Given the description of an element on the screen output the (x, y) to click on. 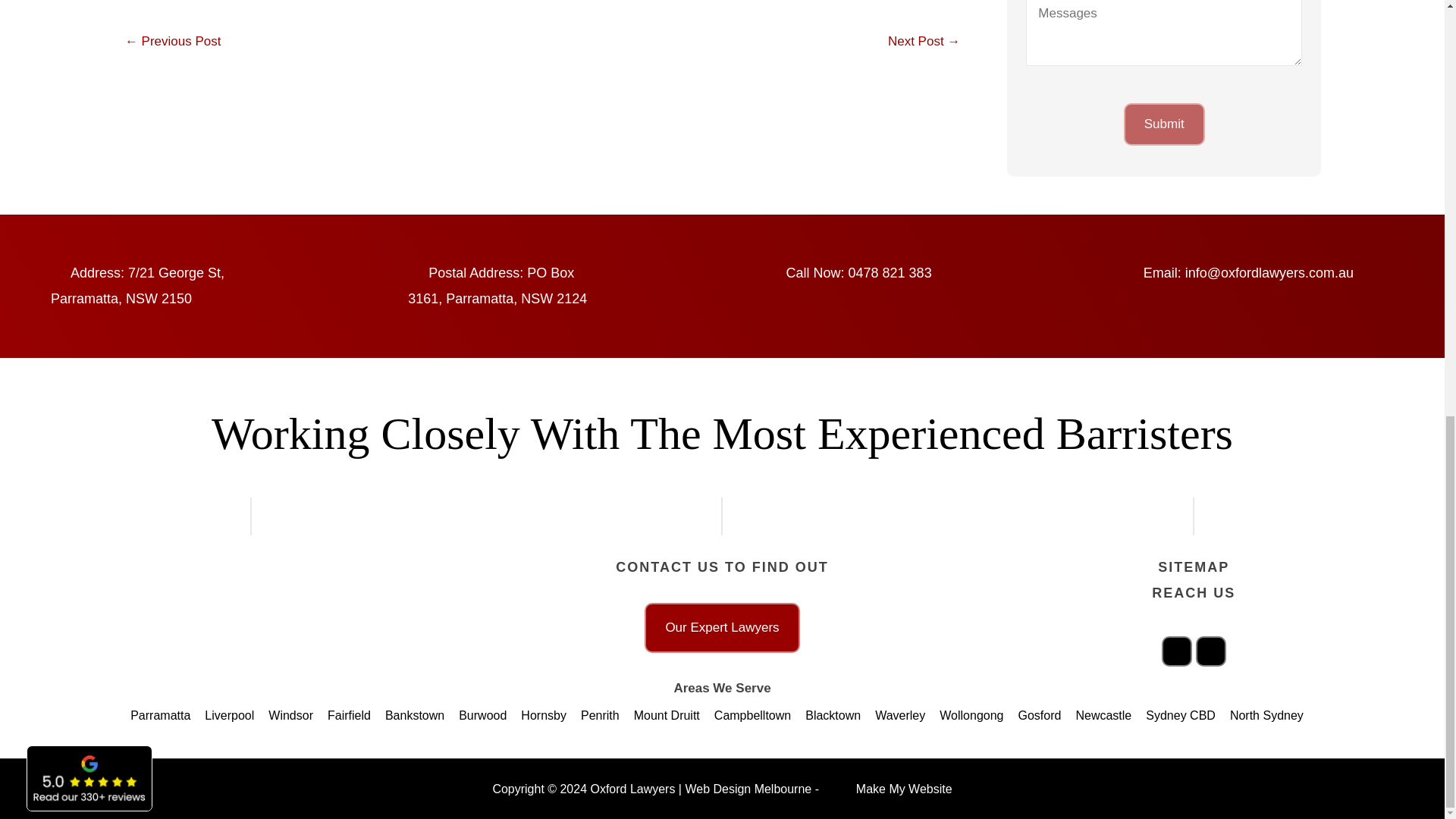
Submit (1164, 124)
No Conviction after Appeal Mid-Range Drink Driving (923, 41)
Submit (1164, 124)
